Given the description of an element on the screen output the (x, y) to click on. 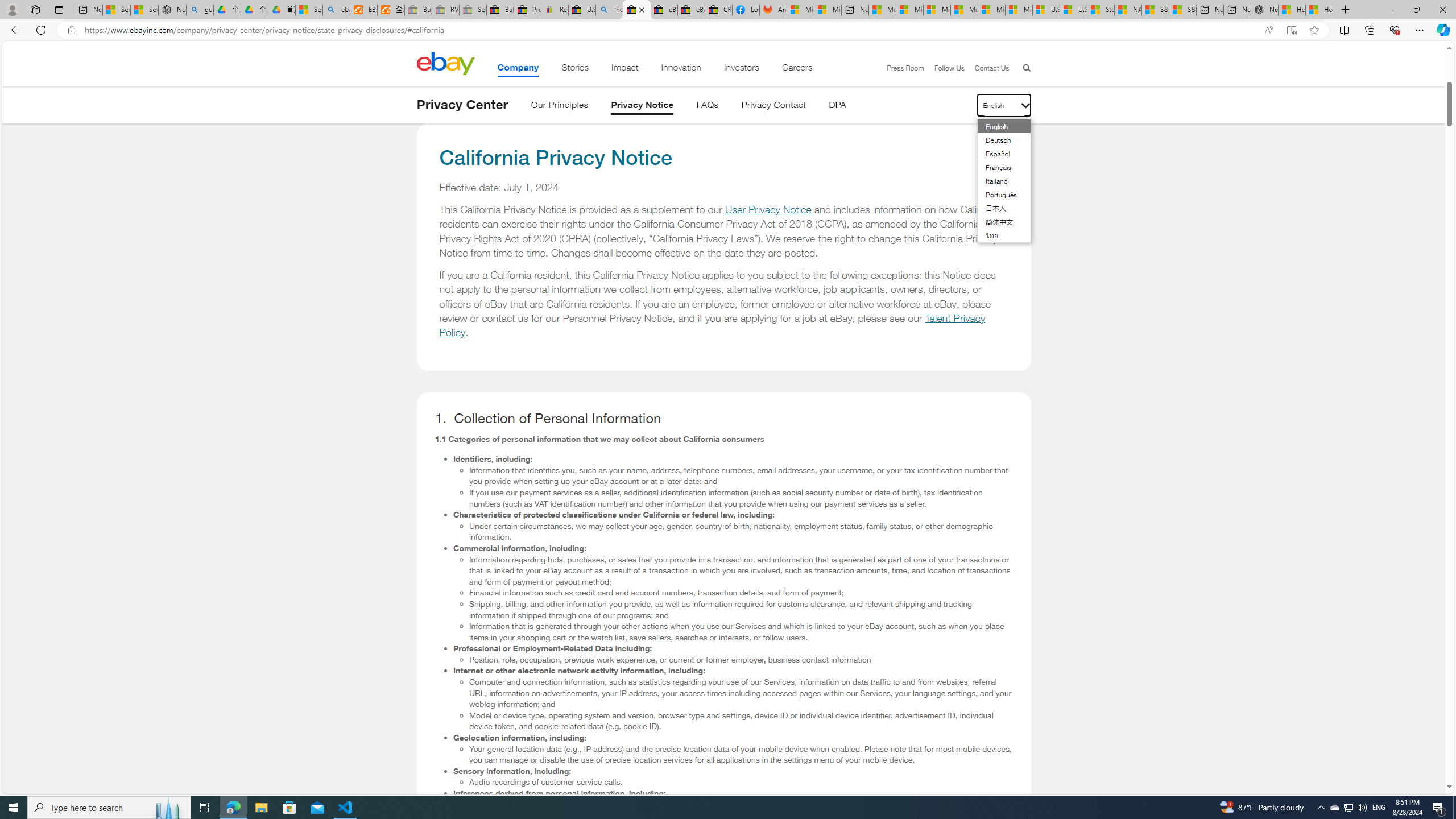
Add this page to favorites (Ctrl+D) (1314, 29)
Audio recordings of customer service calls. (740, 781)
Settings and more (Alt+F) (1419, 29)
Register: Create a personal eBay account (554, 9)
User Privacy Notice (767, 209)
Collections (1369, 29)
Copilot (Ctrl+Shift+.) (1442, 29)
Split screen (1344, 29)
New Tab (1346, 9)
Back (13, 29)
